Given the description of an element on the screen output the (x, y) to click on. 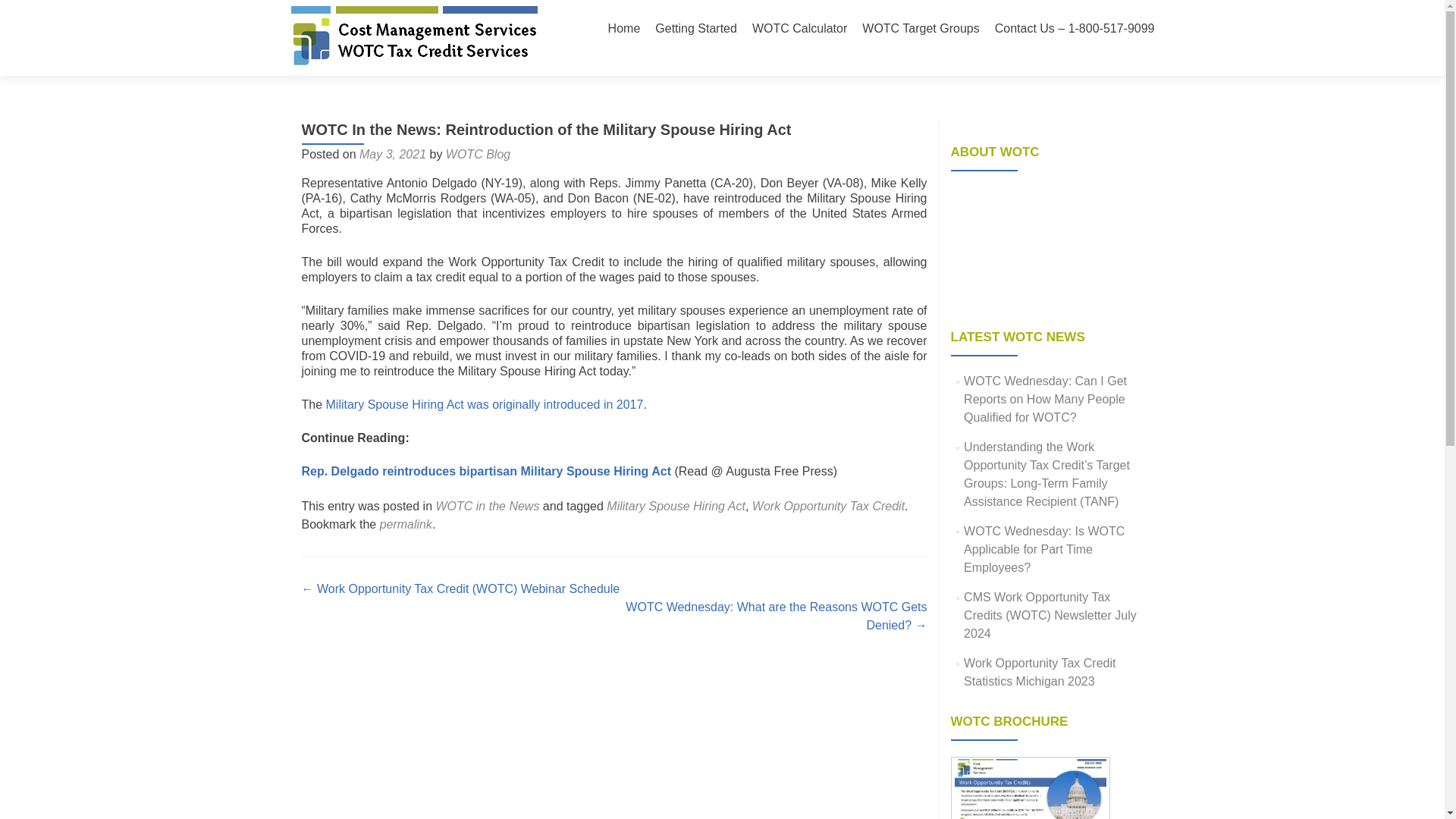
Work Opportunity Tax Credit (828, 505)
WOTC in the News (486, 505)
Military Spouse Hiring Act (676, 505)
May 3, 2021 (392, 154)
Work Opportunity Tax Credit Statistics Michigan 2023 (1039, 671)
WOTC Calculator (799, 28)
Home (624, 28)
Getting Started (695, 28)
WOTC Target Groups (919, 28)
permalink (406, 523)
WOTC Blog (478, 154)
Military Spouse Hiring Act was originally introduced in 2017 (484, 404)
WOTC Wednesday: Is WOTC Applicable for Part Time Employees? (1043, 549)
